Given the description of an element on the screen output the (x, y) to click on. 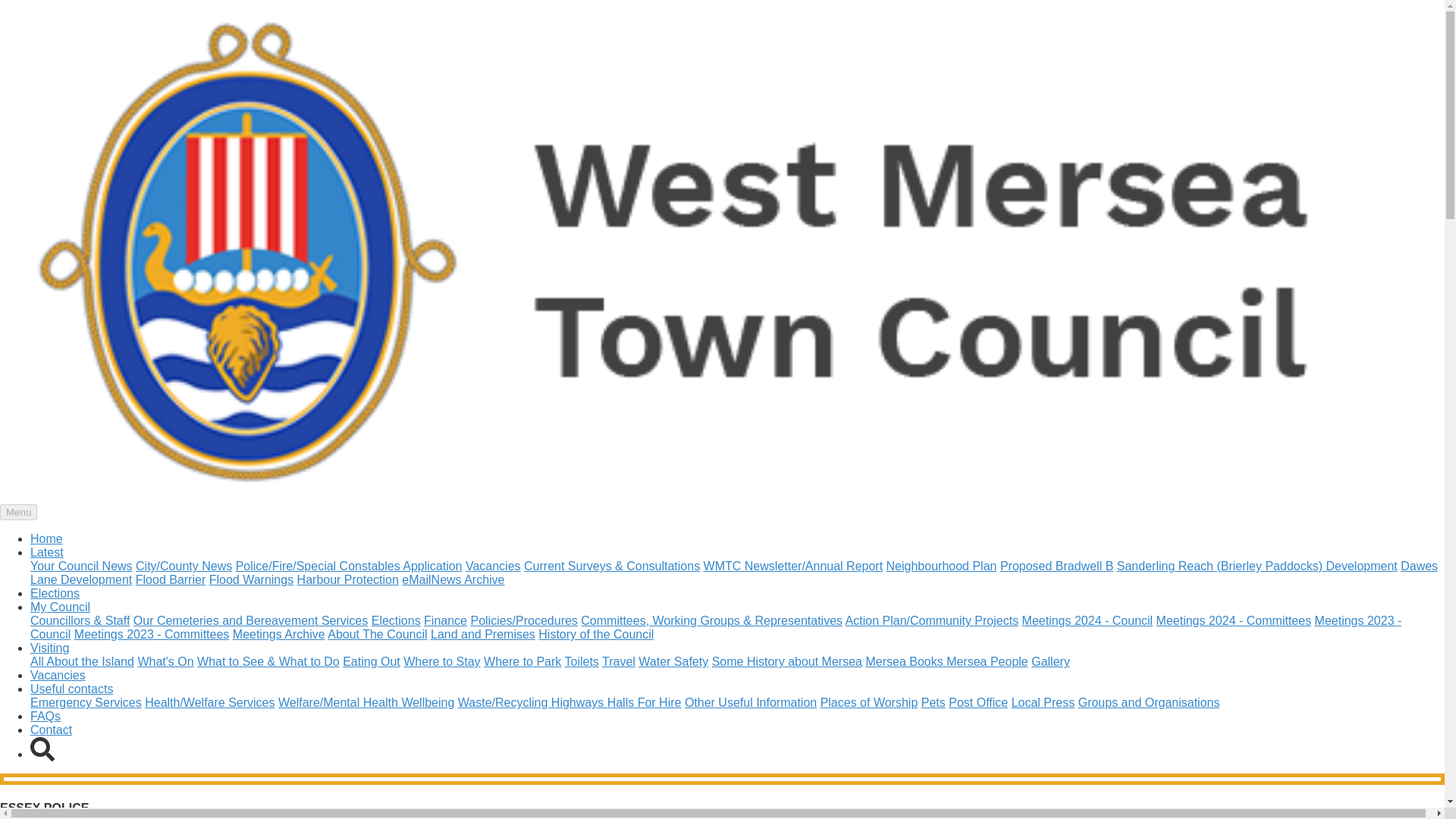
What's On (164, 661)
eMailNews Archive (452, 579)
Harbour Protection (347, 579)
Our Cemeteries and Bereavement Services (250, 620)
Elections (395, 620)
Search the Mersea Council website (42, 749)
Visiting (49, 647)
Latest (47, 552)
Eating Out (371, 661)
Meetings 2024 - Committees (1233, 620)
Useful contacts (71, 688)
Meetings 2023 - Council (715, 627)
About The Council (376, 634)
Menu (18, 512)
Dawes Lane Development (734, 572)
